Given the description of an element on the screen output the (x, y) to click on. 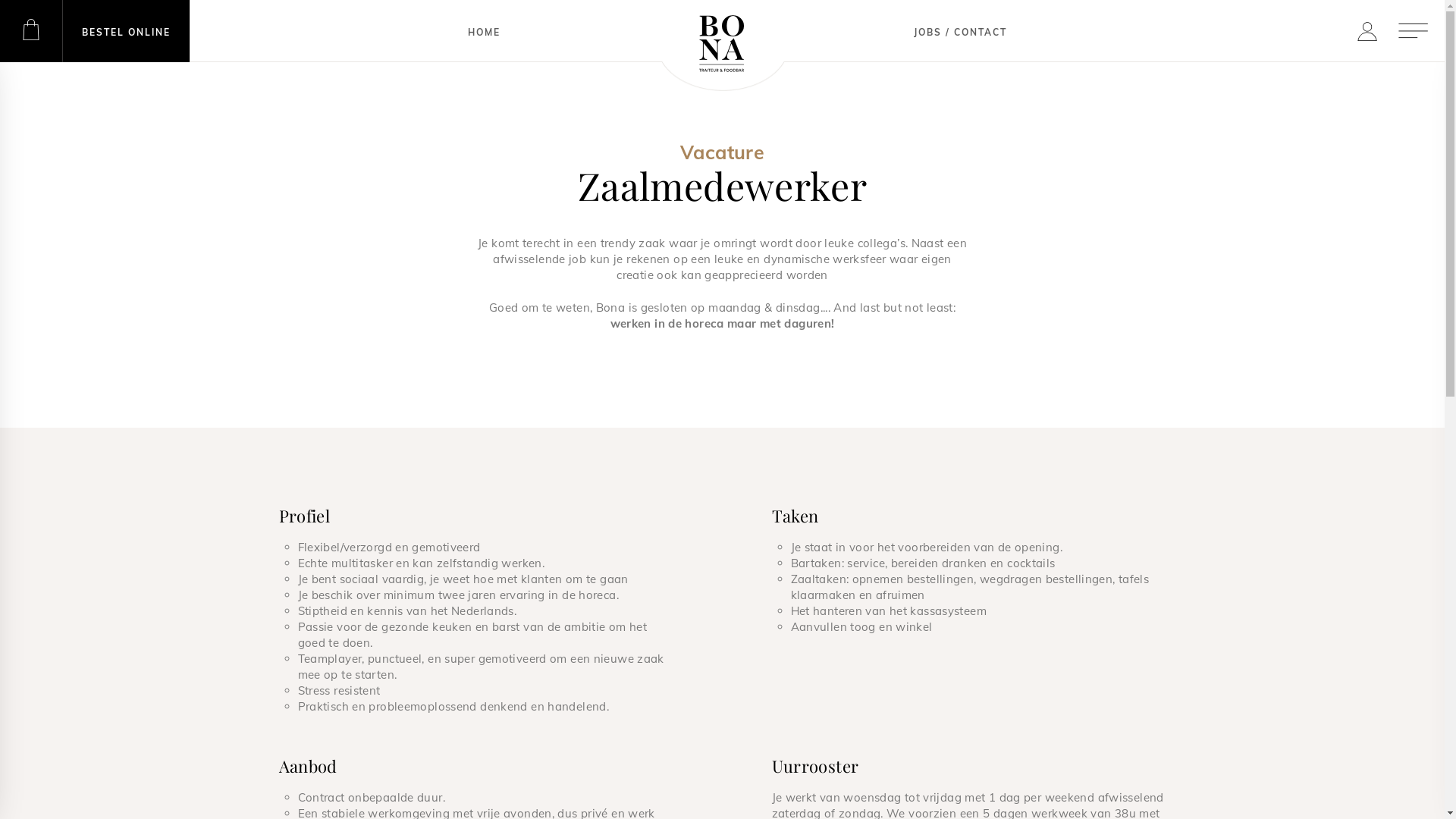
JOBS Element type: text (927, 31)
CONTACT Element type: text (980, 31)
HOME Element type: text (483, 31)
BESTEL ONLINE Element type: text (125, 31)
